Given the description of an element on the screen output the (x, y) to click on. 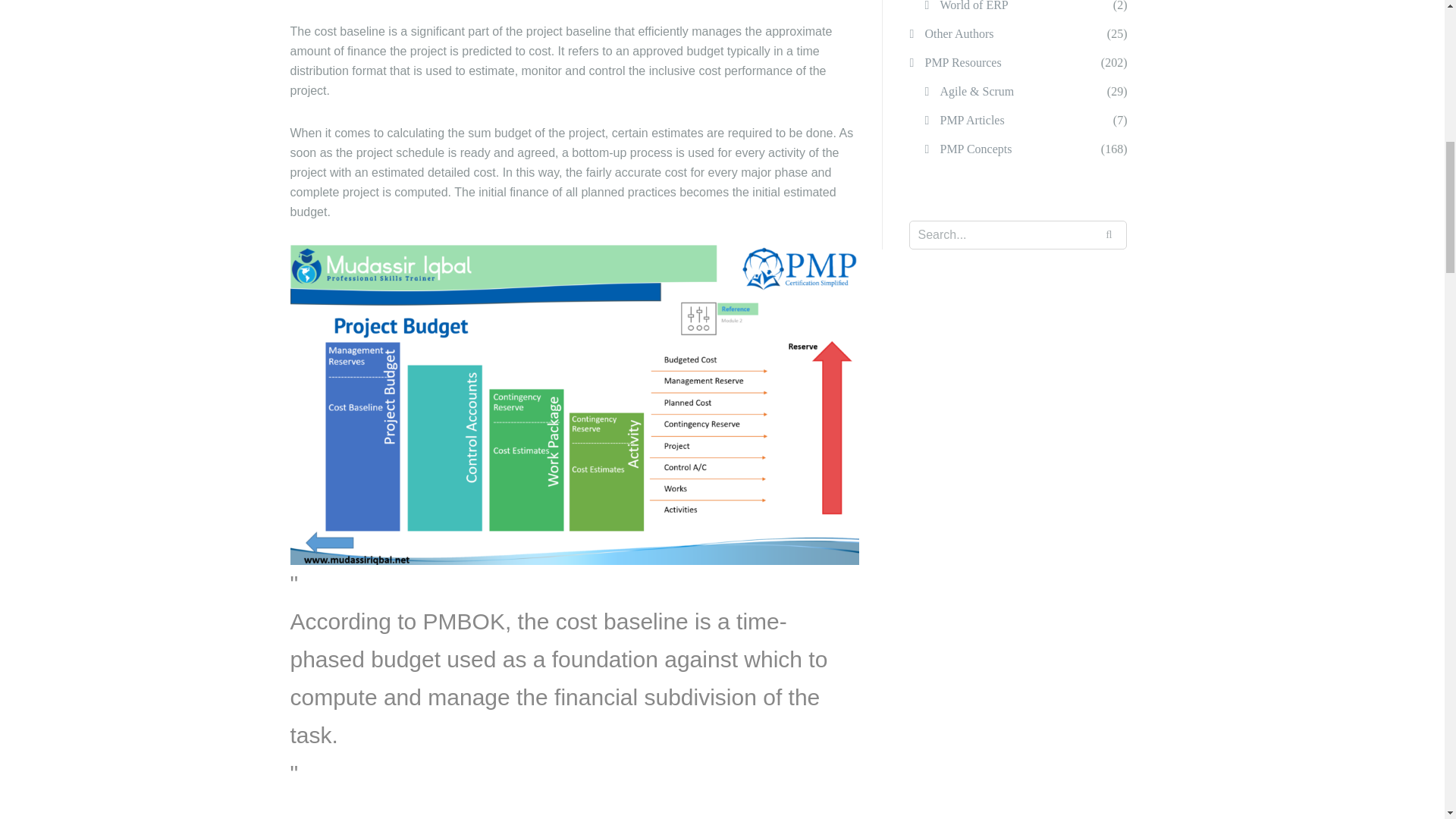
Other Authors (958, 33)
PMP Resources (962, 62)
World of ERP (973, 9)
Search for: (1017, 234)
PMP Articles (971, 120)
